Given the description of an element on the screen output the (x, y) to click on. 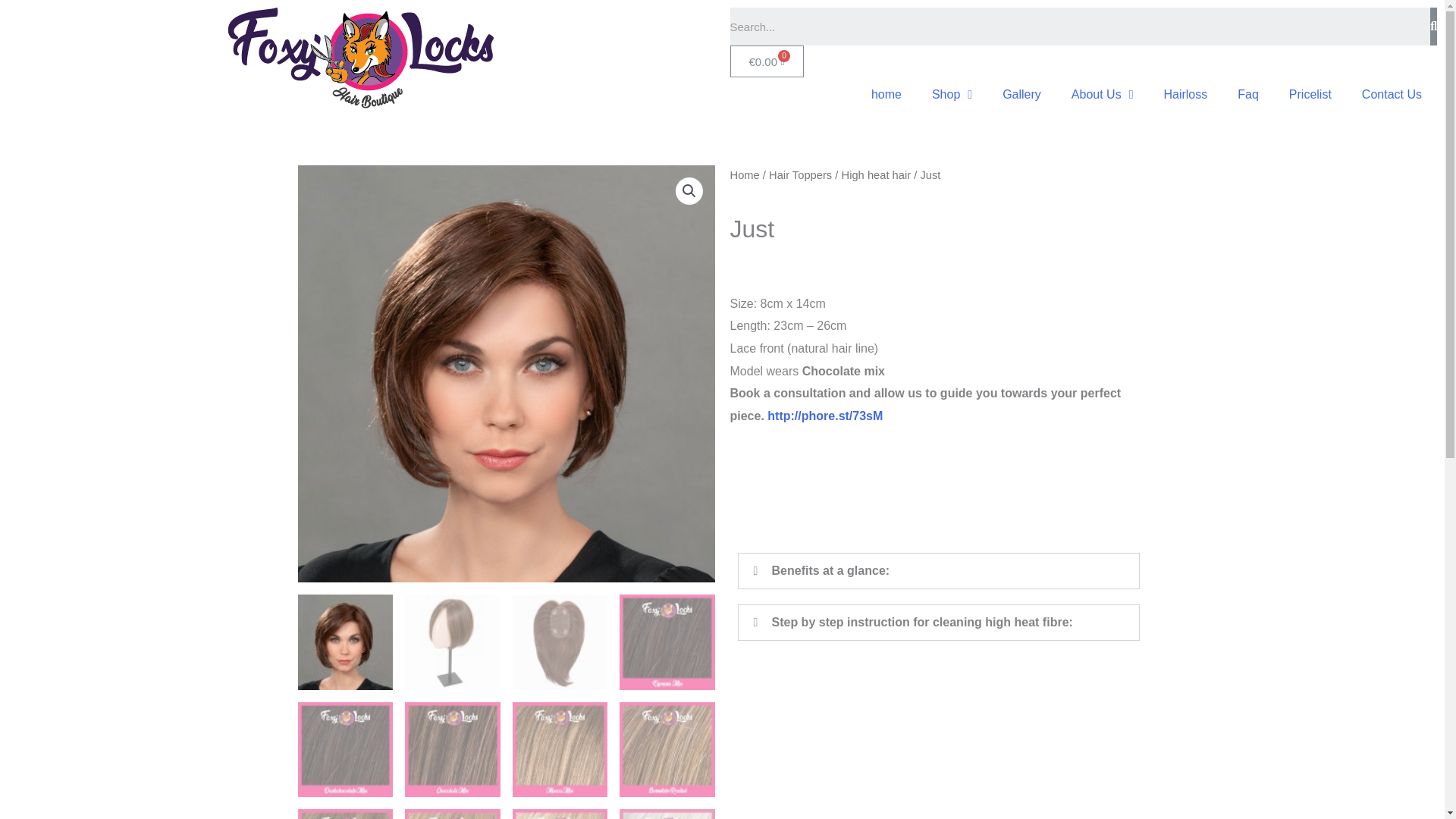
Contact Us (1391, 94)
home (886, 94)
Gallery (1022, 94)
Pricelist (1310, 94)
Search (1079, 26)
Faq (1248, 94)
About Us (1102, 94)
Shop (952, 94)
Hairloss (1185, 94)
